Given the description of an element on the screen output the (x, y) to click on. 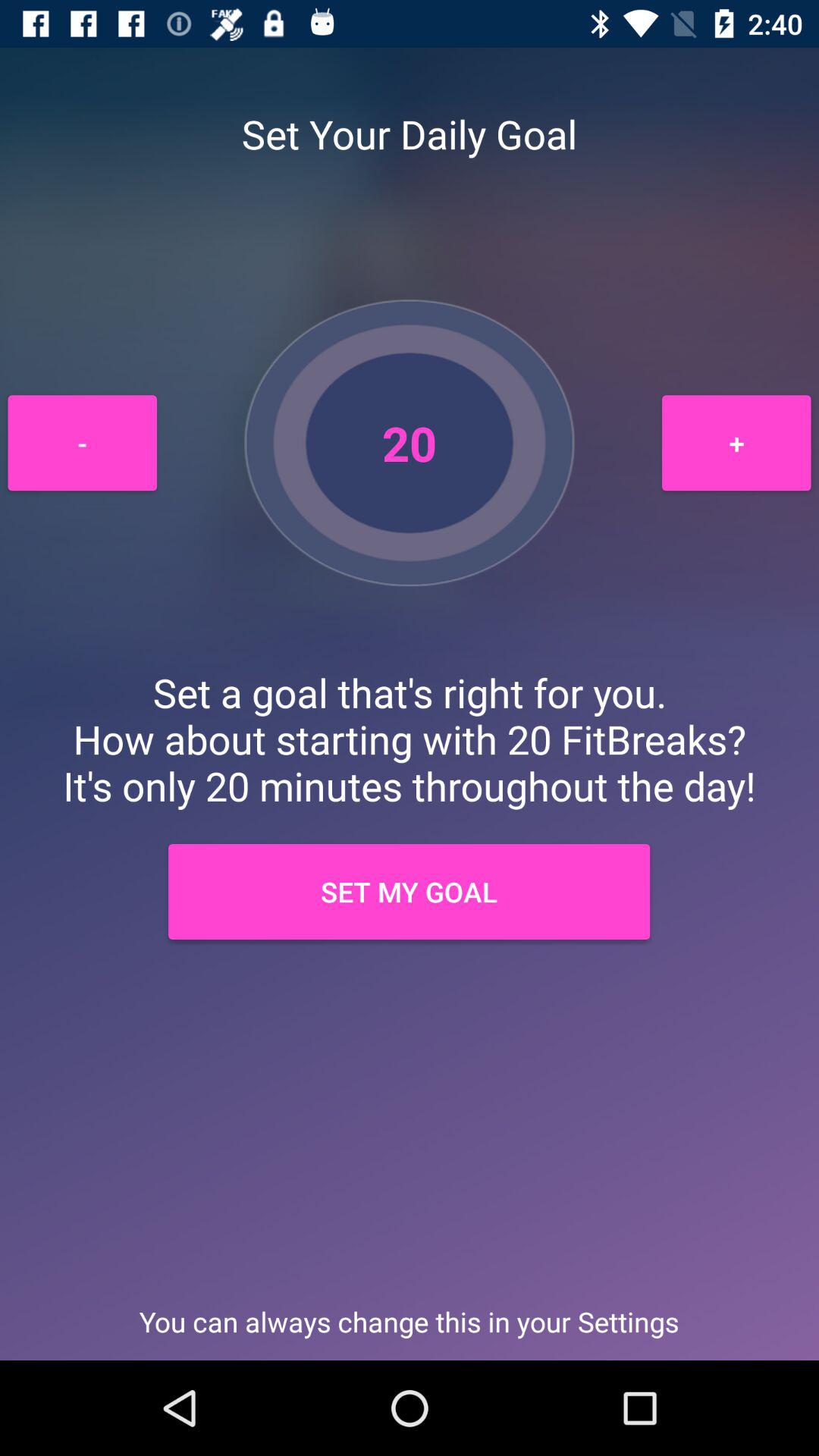
launch item above the set a goal icon (736, 442)
